Given the description of an element on the screen output the (x, y) to click on. 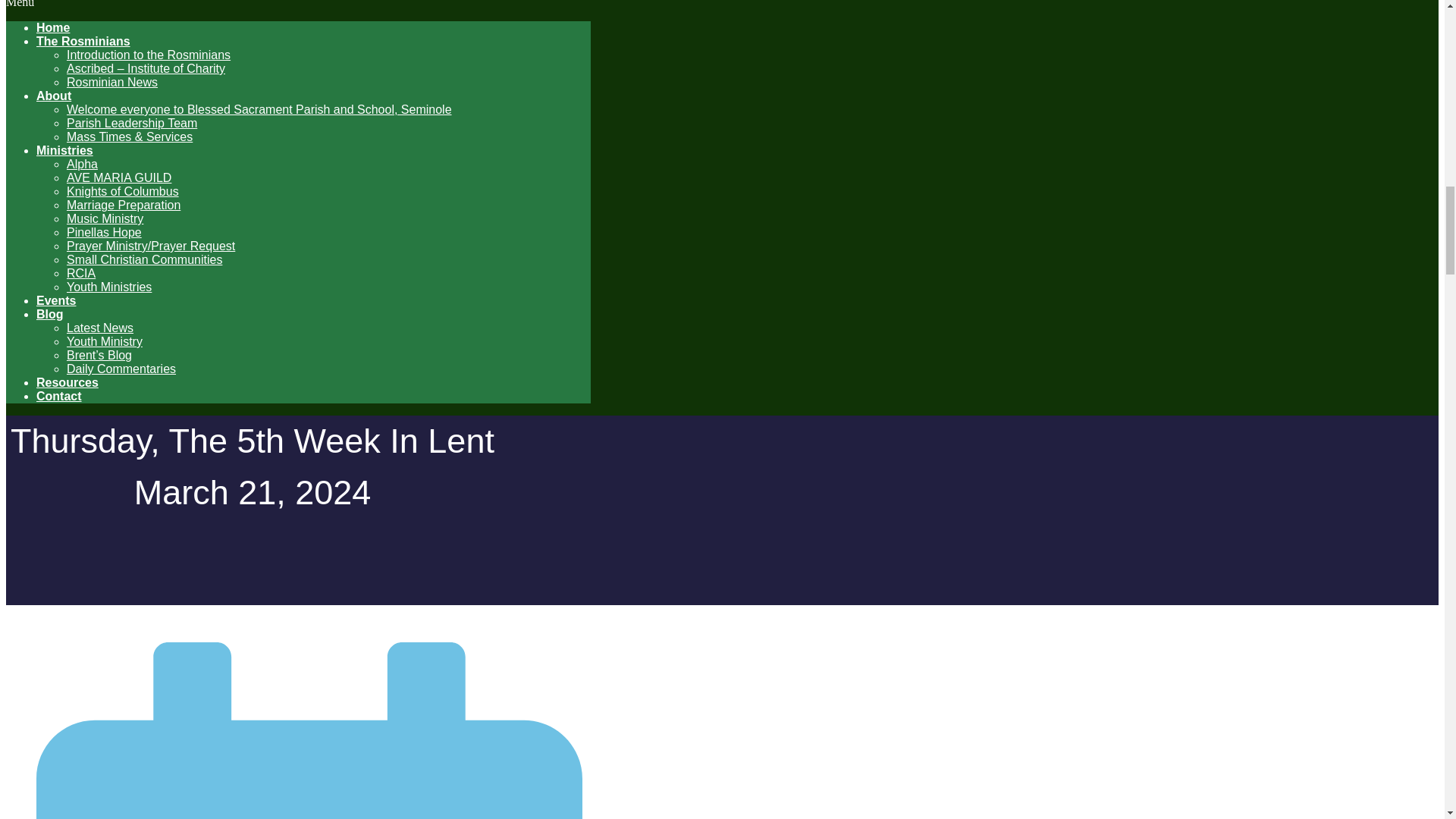
AVE MARIA GUILD (118, 177)
Ministries (64, 150)
About (53, 95)
Home (52, 27)
Parish Leadership Team (131, 123)
Rosminian News (111, 82)
Introduction to the Rosminians (148, 54)
Alpha (81, 164)
The Rosminians (83, 41)
